Given the description of an element on the screen output the (x, y) to click on. 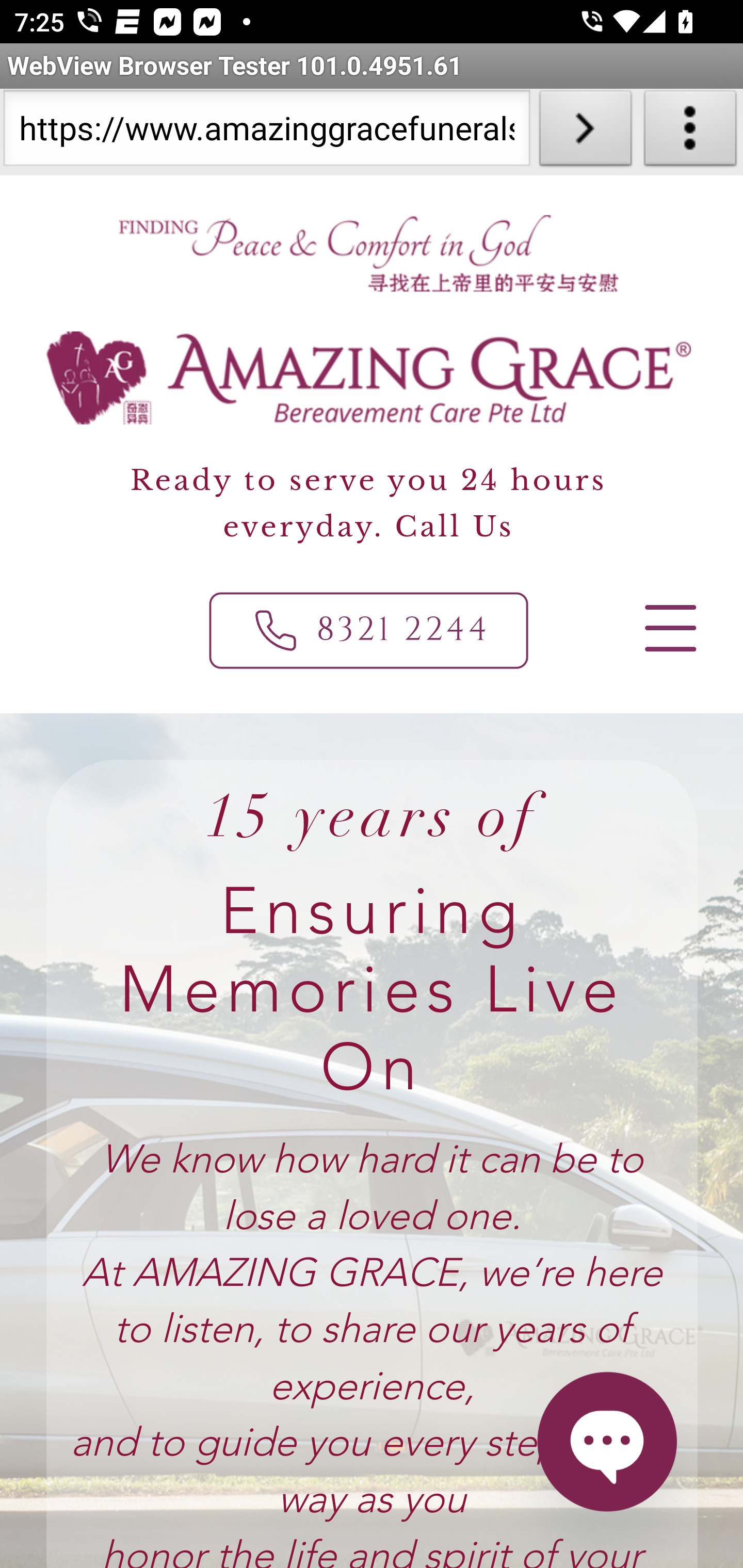
Load URL (585, 132)
About WebView (690, 132)
AG_H5 Finding God_edited.png (366, 253)
AG_H1 Logo Name_edited.png (369, 377)
Open navigation menu (669, 627)
8321 2244 (368, 630)
